Given the description of an element on the screen output the (x, y) to click on. 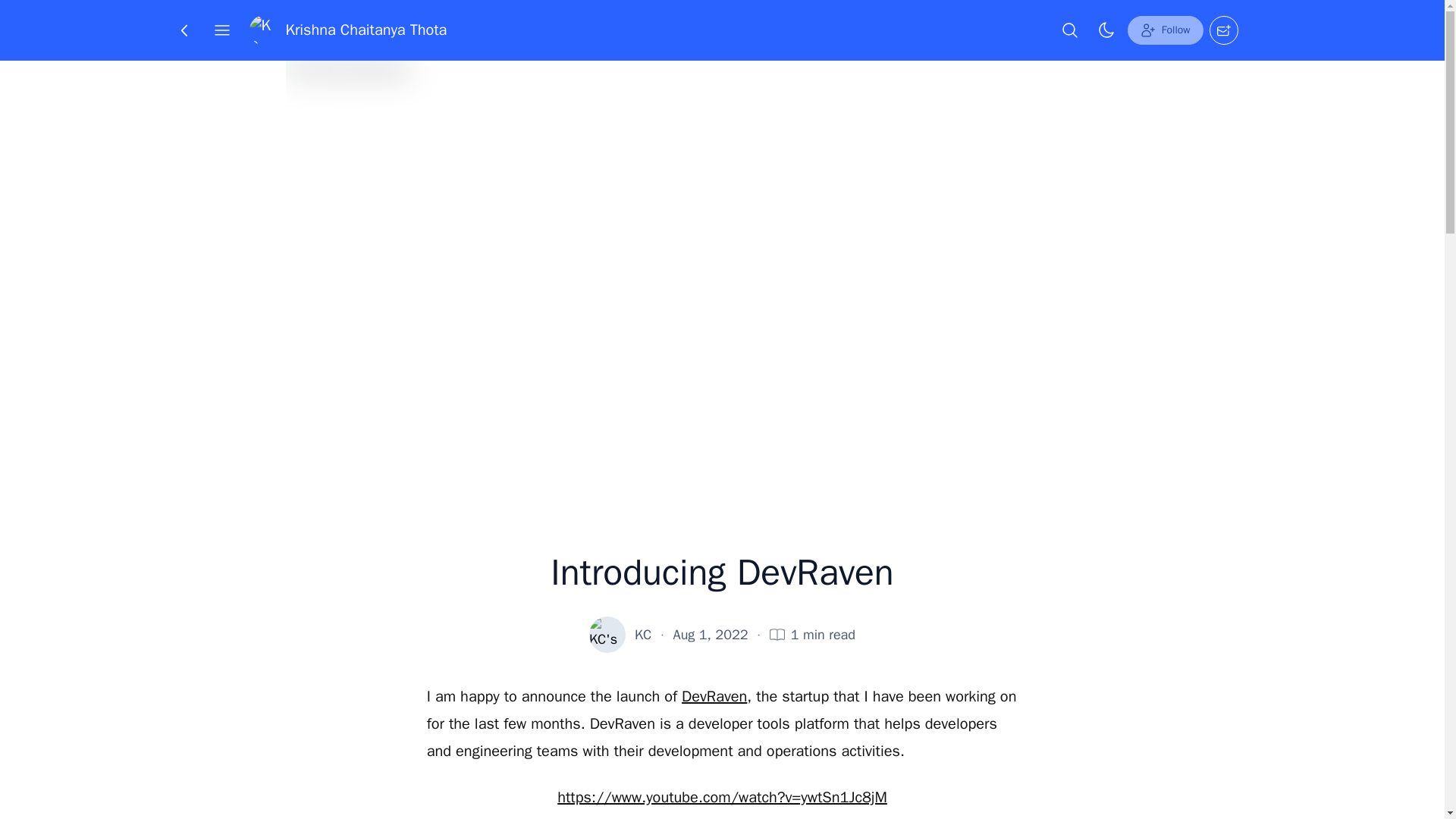
Krishna Chaitanya Thota (347, 30)
Follow (1165, 30)
DevRaven (713, 696)
Aug 1, 2022 (710, 634)
